Given the description of an element on the screen output the (x, y) to click on. 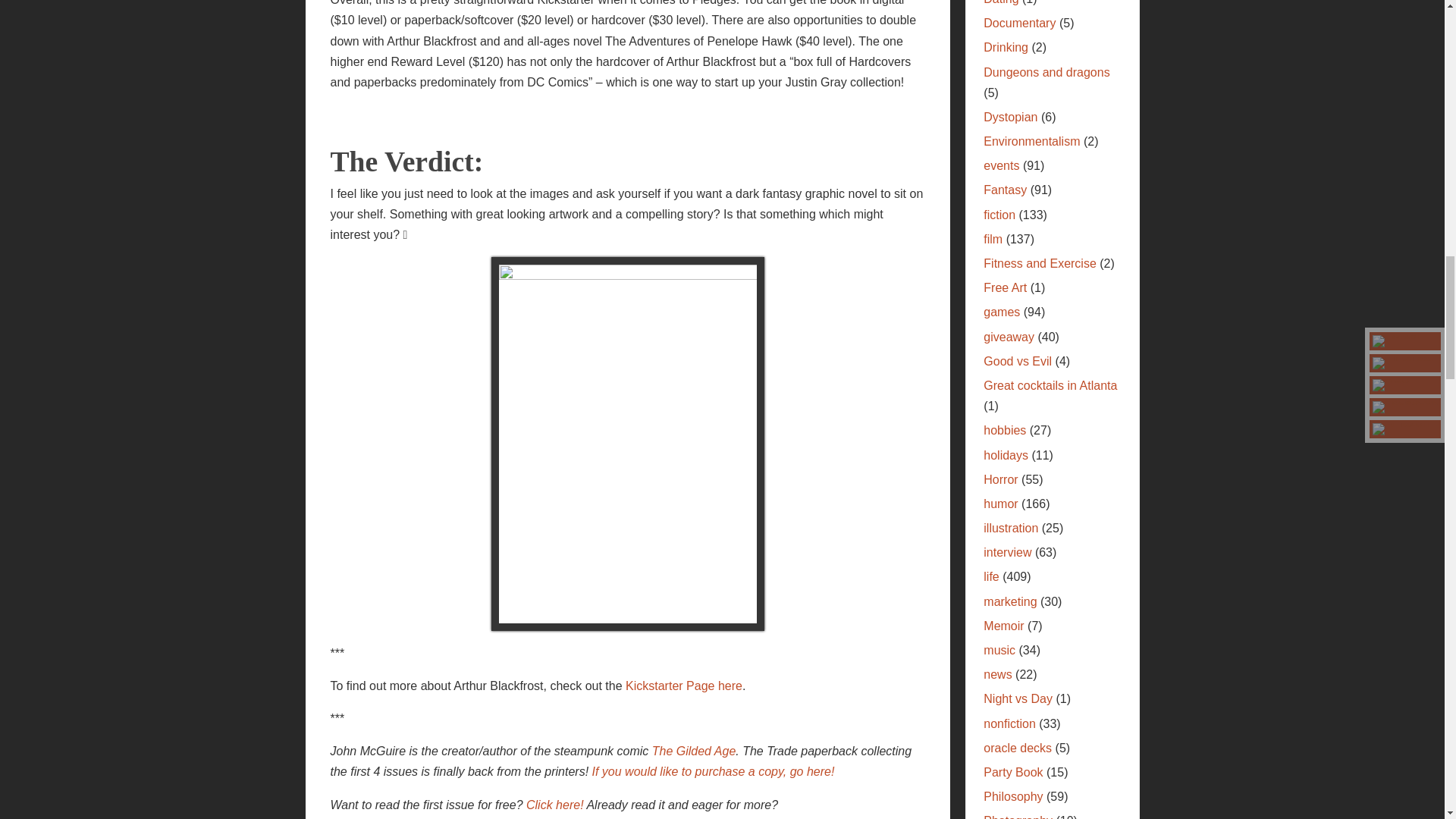
Kickstarter Page here (684, 685)
If you would like to purchase a copy, go here! (713, 771)
Click here!  (555, 804)
The Gilded Age (694, 750)
